Given the description of an element on the screen output the (x, y) to click on. 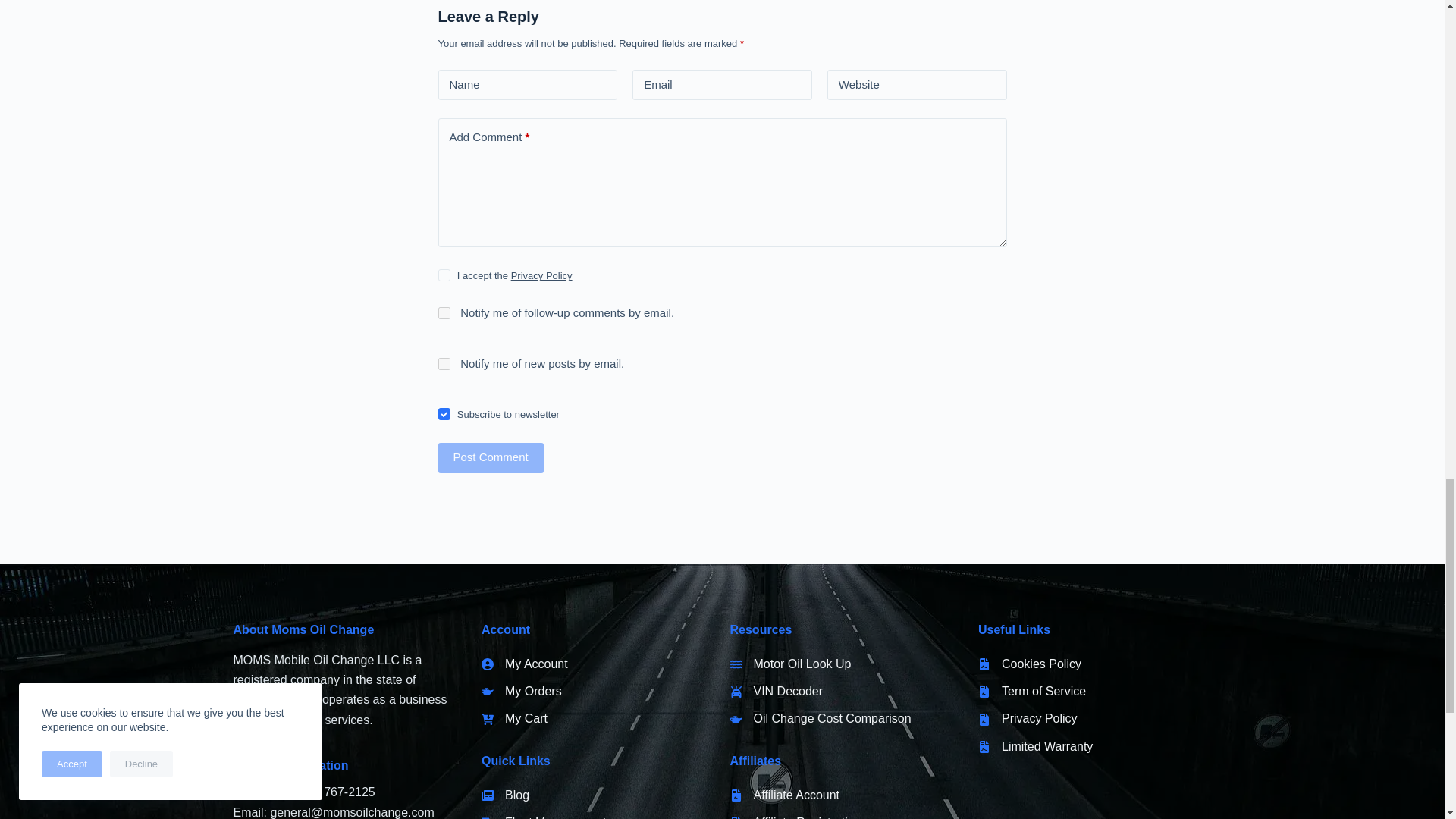
yes (443, 413)
subscribe (443, 363)
on (443, 275)
subscribe (443, 313)
